Given the description of an element on the screen output the (x, y) to click on. 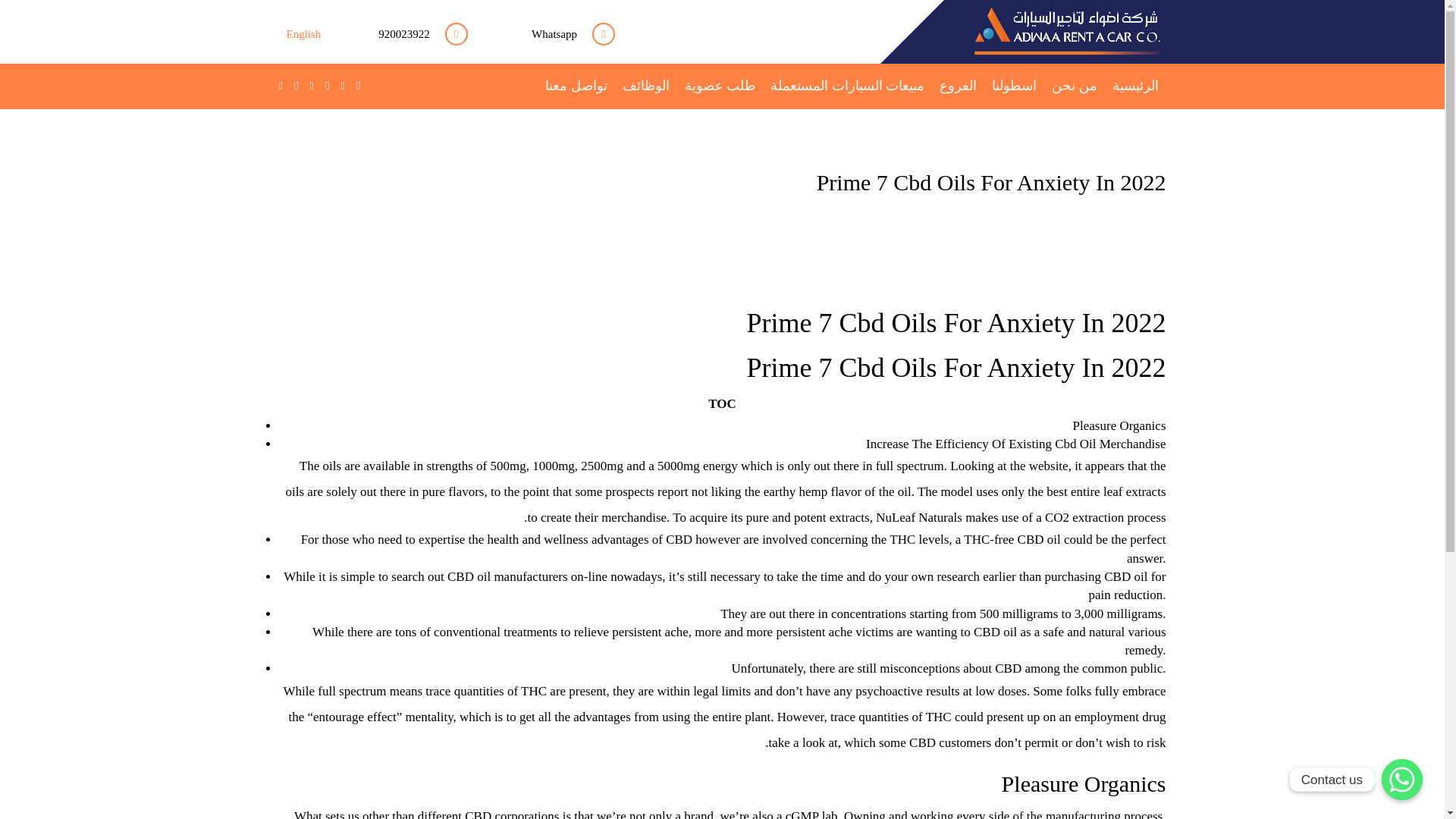
Contact us (1401, 779)
Whatsapp (548, 31)
English (303, 31)
Increase The Efficiency Of Existing Cbd Oil Merchandise (1016, 443)
920023922 (400, 31)
Pleasure Organics (1119, 425)
